Given the description of an element on the screen output the (x, y) to click on. 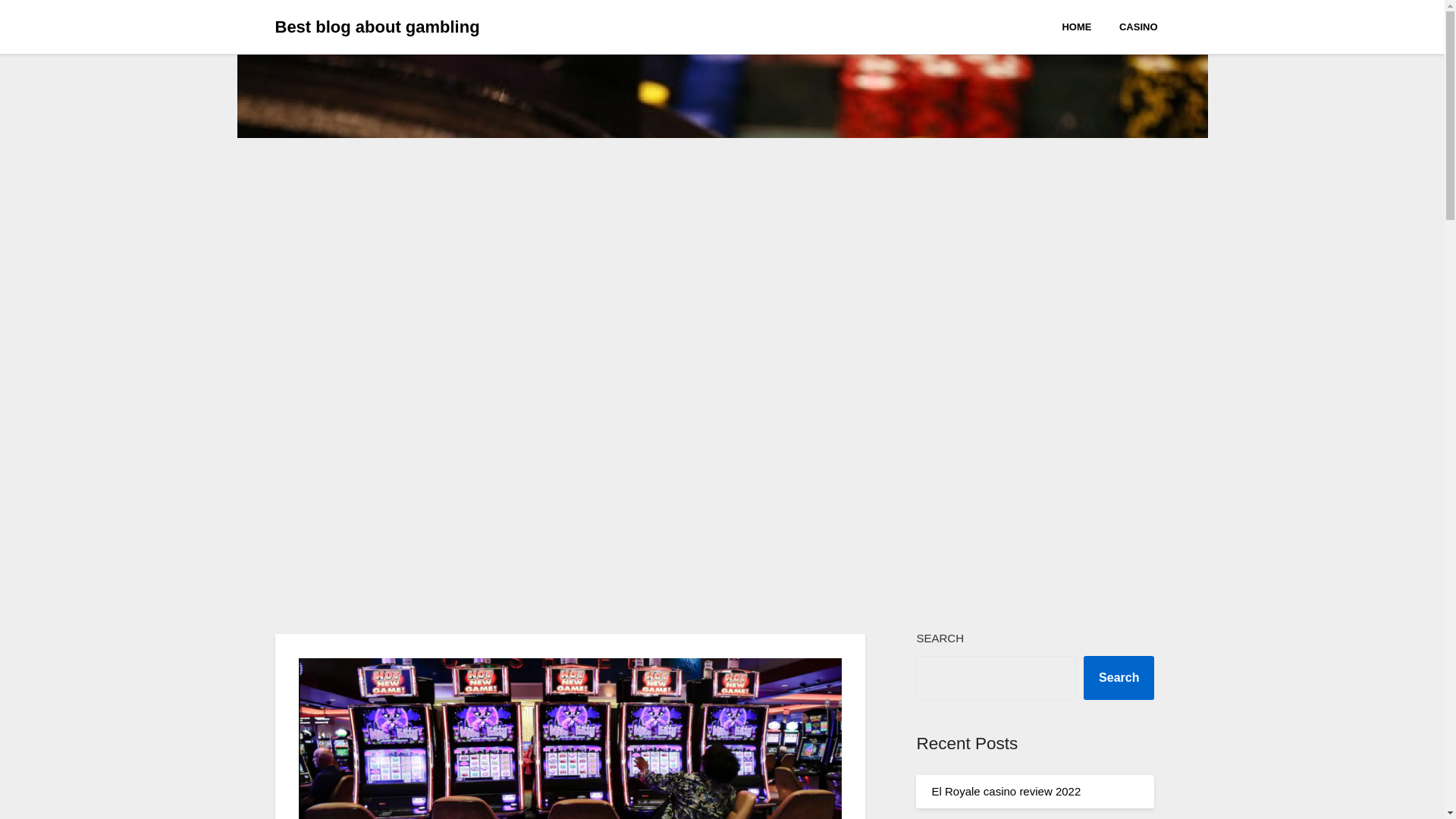
Best blog about gambling (377, 26)
El Royale casino review 2022 (1005, 790)
Search (1118, 678)
HOME (1082, 26)
